Given the description of an element on the screen output the (x, y) to click on. 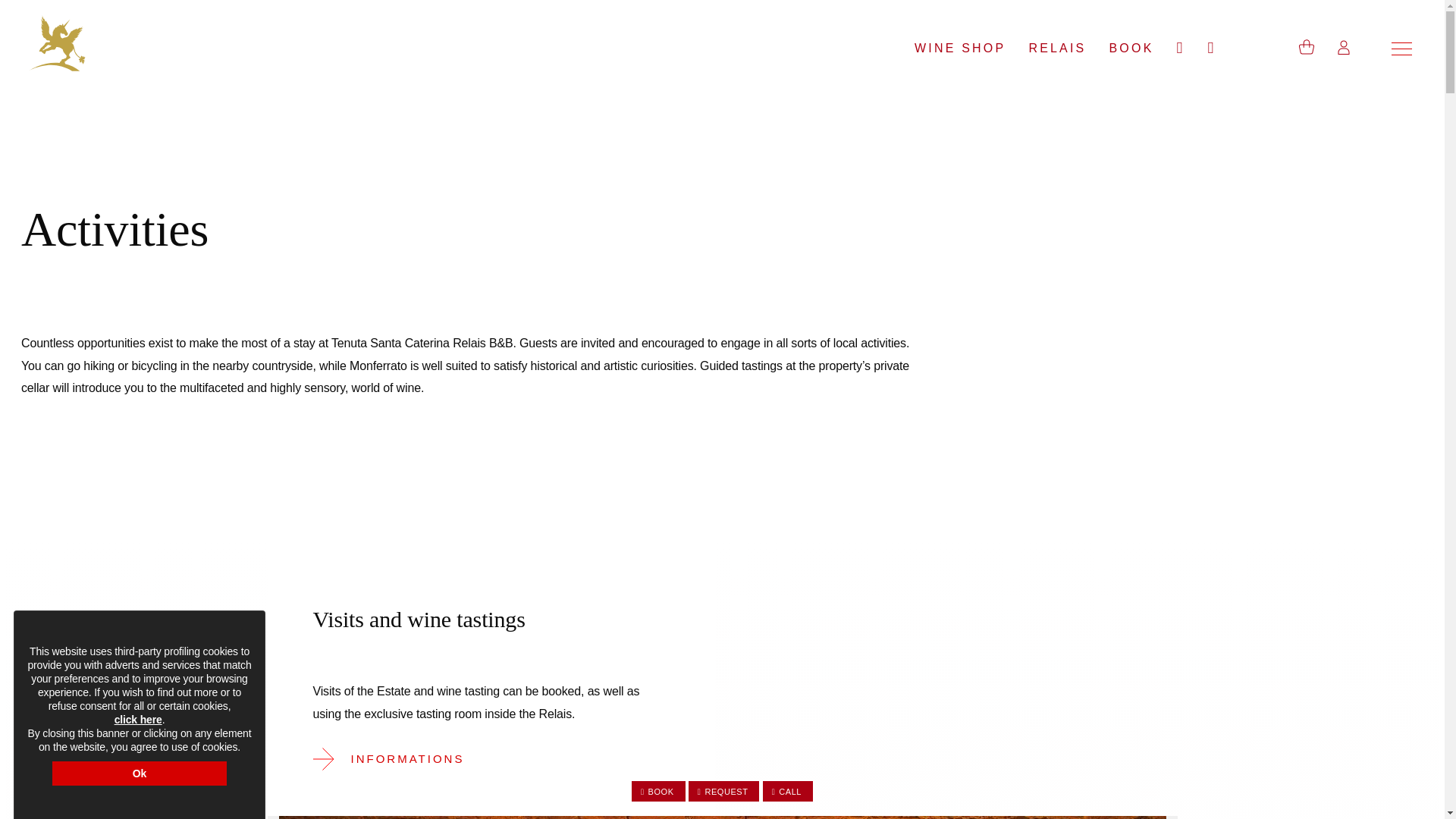
BOOK (1131, 48)
Ok (139, 773)
Tenuta Santa Caterina (57, 43)
RELAIS (1056, 48)
click here (138, 719)
WINE SHOP (959, 48)
INFORMATIONS (399, 758)
